Given the description of an element on the screen output the (x, y) to click on. 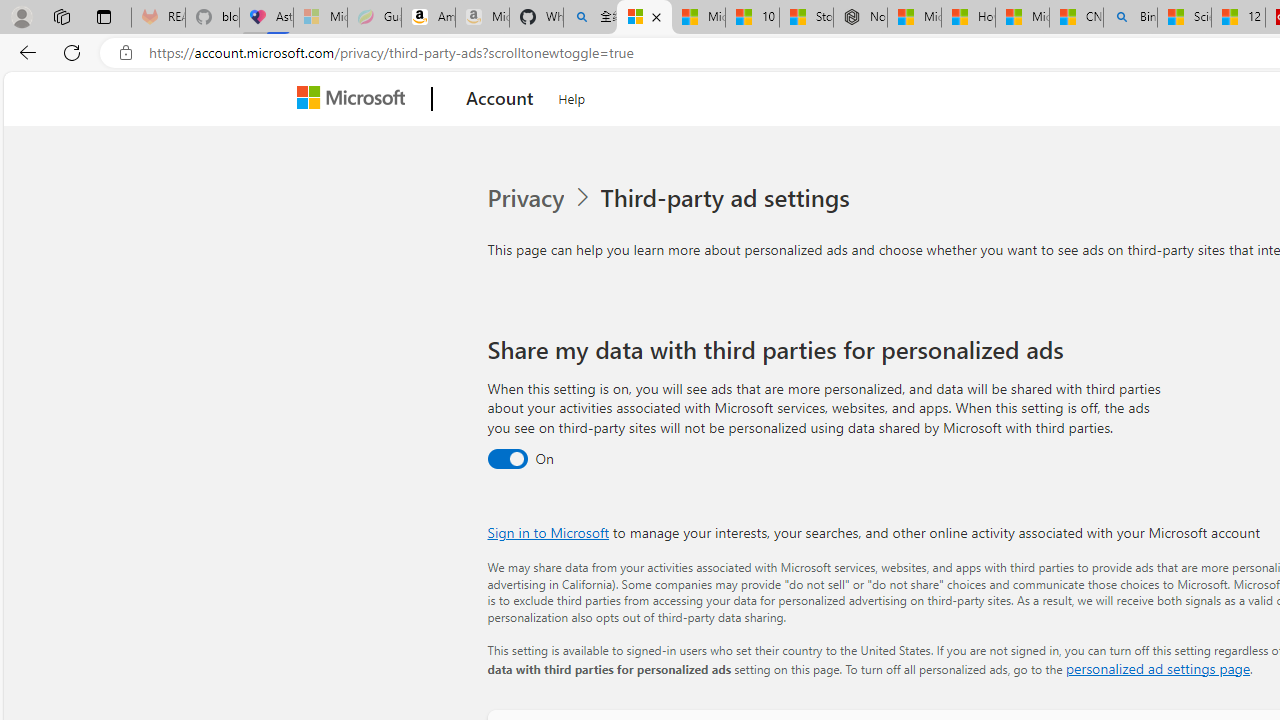
CNN - MSN (1076, 17)
